Given the description of an element on the screen output the (x, y) to click on. 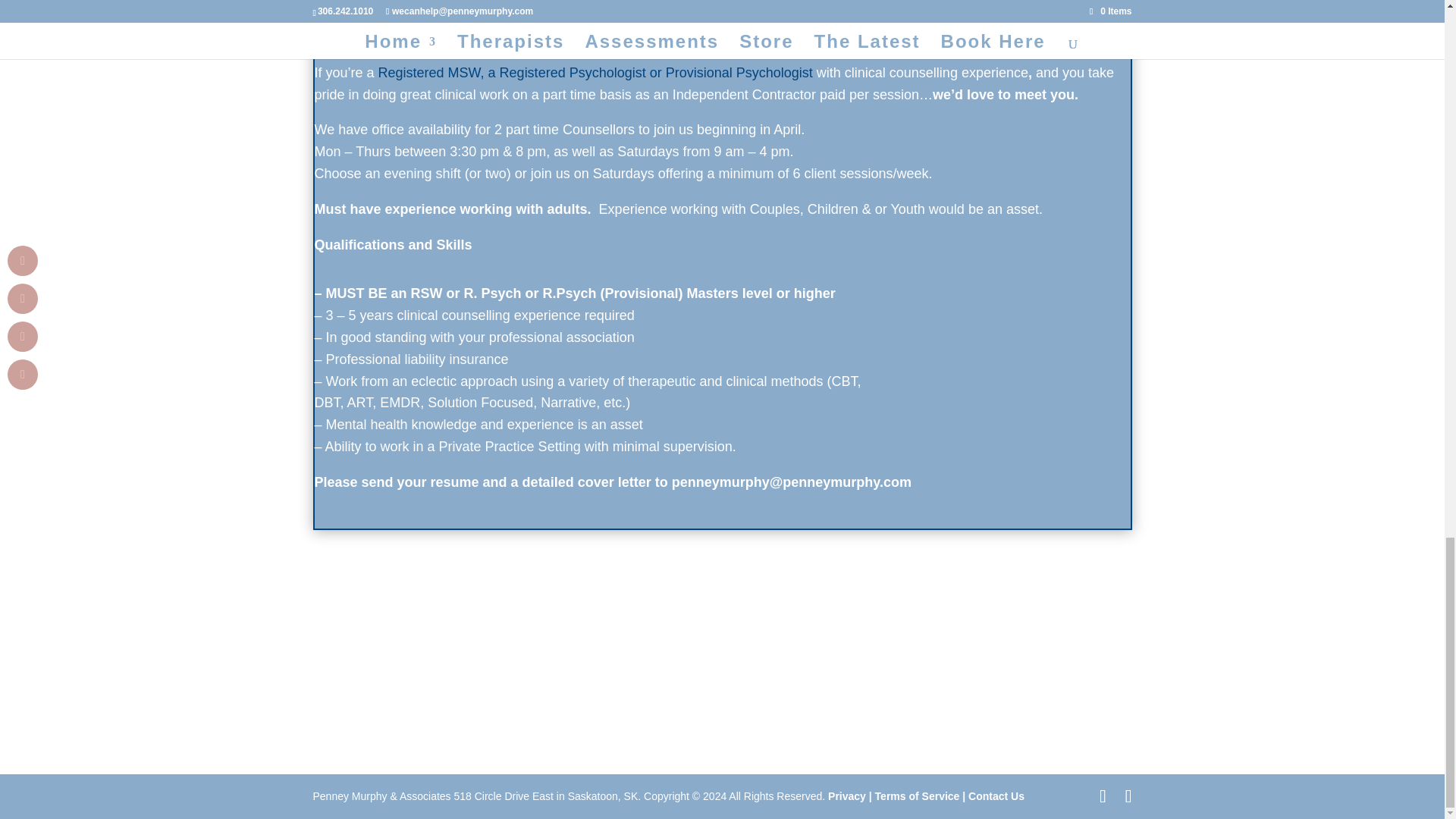
Contact Us (995, 796)
